Given the description of an element on the screen output the (x, y) to click on. 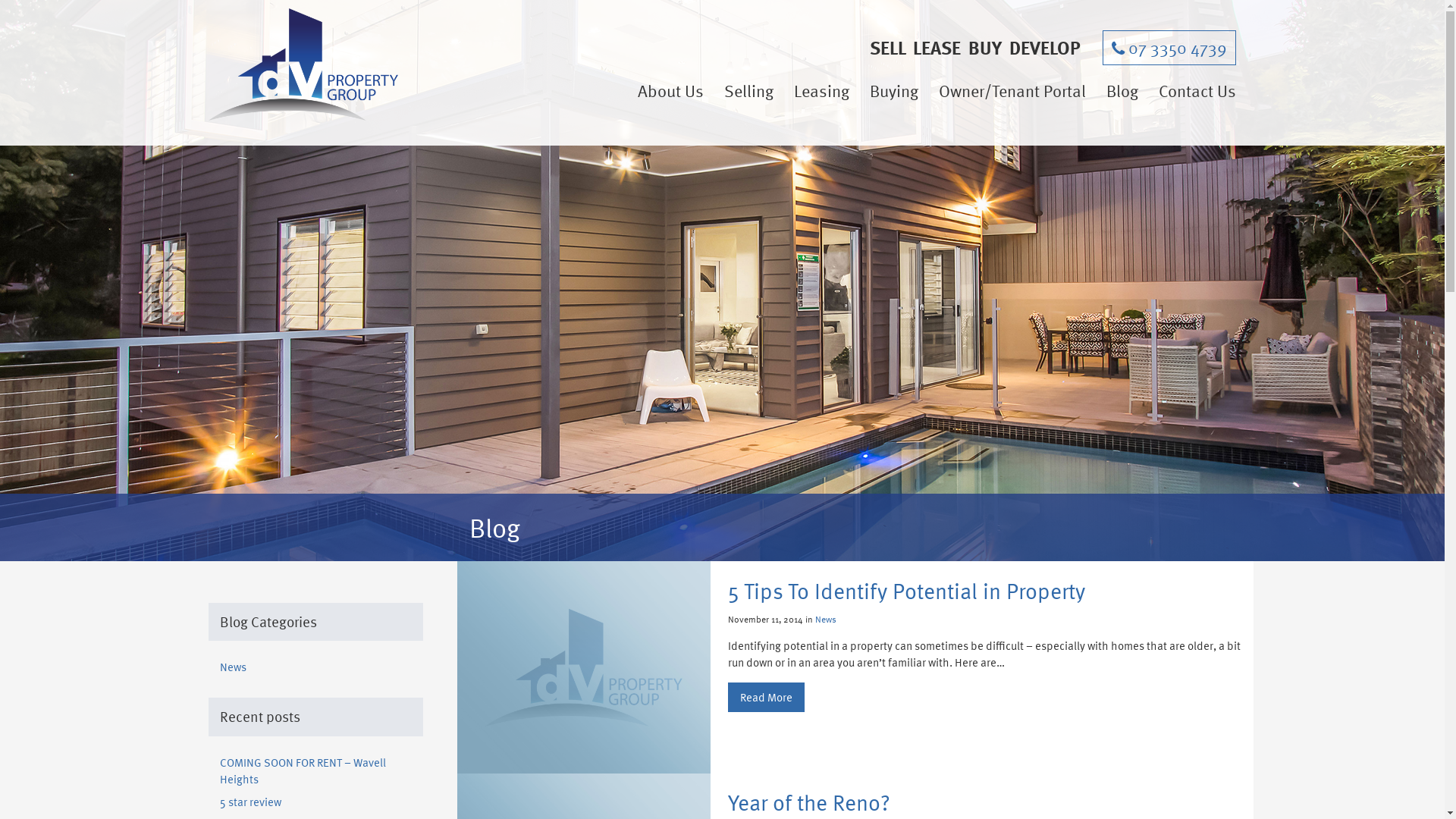
Blog Element type: text (1122, 90)
Contact Us Element type: text (1193, 90)
News Element type: text (232, 666)
5 Tips To Identify Potential in Property Element type: text (990, 590)
5 star review Element type: text (250, 801)
07 3350 4739 Element type: text (1169, 47)
About Us Element type: text (674, 90)
Read More Element type: text (766, 697)
News Element type: text (825, 618)
Selling Element type: text (748, 90)
Year of the Reno? Element type: text (990, 802)
Owner/Tenant Portal Element type: text (1012, 90)
Leasing Element type: text (821, 90)
Buying Element type: text (893, 90)
